Given the description of an element on the screen output the (x, y) to click on. 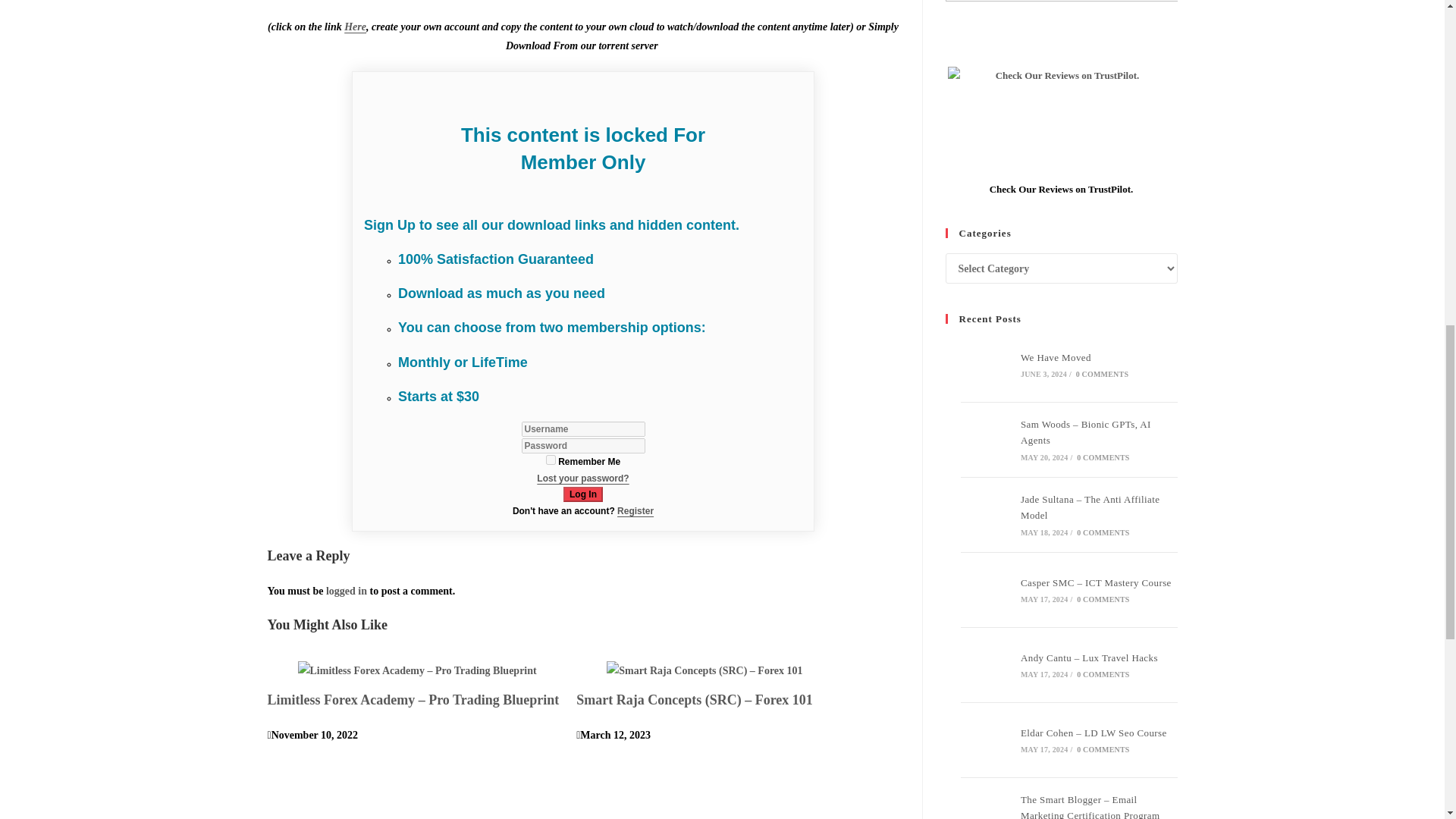
forever (551, 460)
Log In (582, 494)
We Have Moved (985, 364)
